Given the description of an element on the screen output the (x, y) to click on. 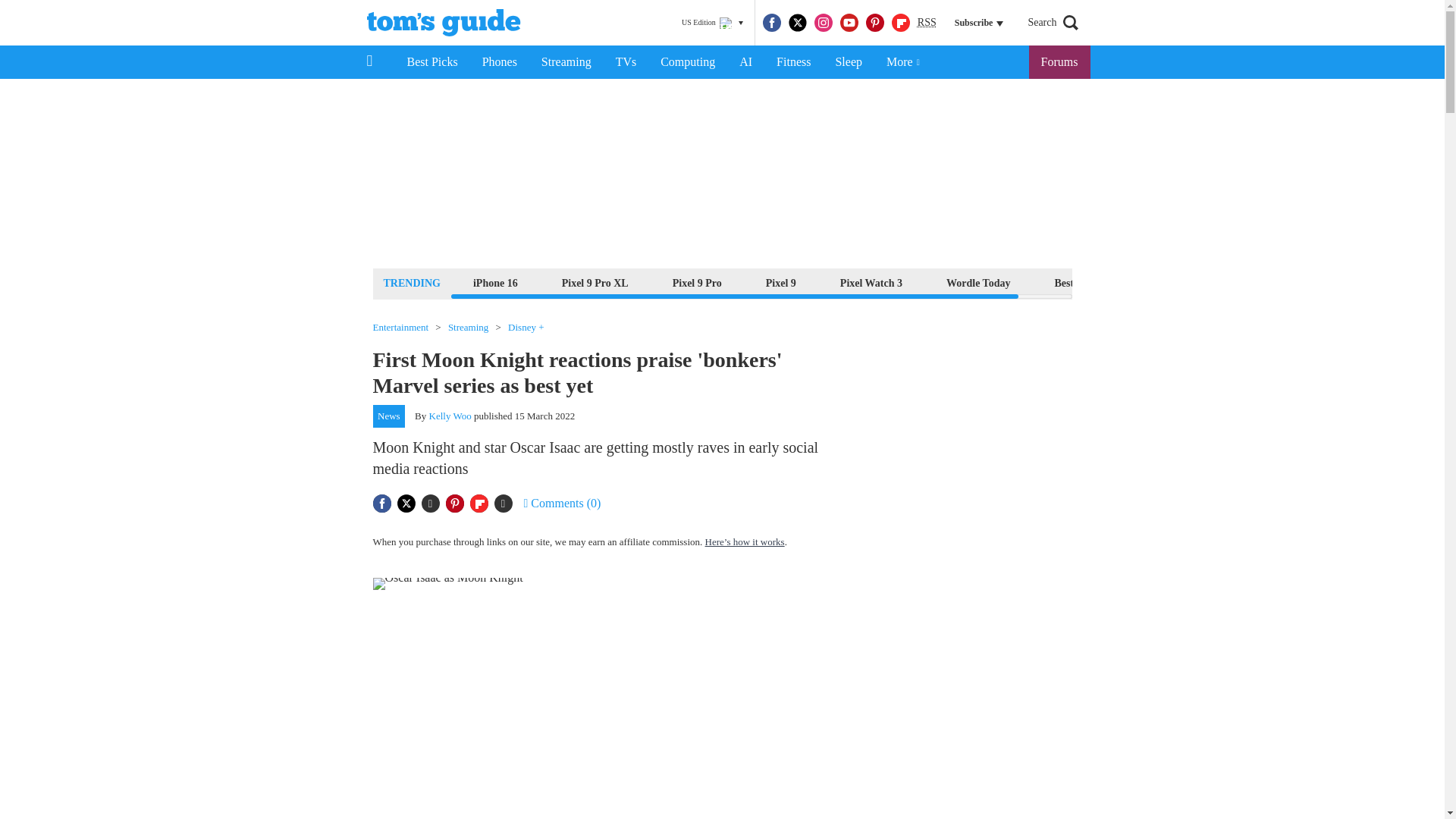
Best Picks (431, 61)
Streaming (566, 61)
Fitness (793, 61)
US Edition (712, 22)
Phones (499, 61)
Sleep (848, 61)
Really Simple Syndication (926, 21)
RSS (926, 22)
TVs (626, 61)
Computing (686, 61)
